Given the description of an element on the screen output the (x, y) to click on. 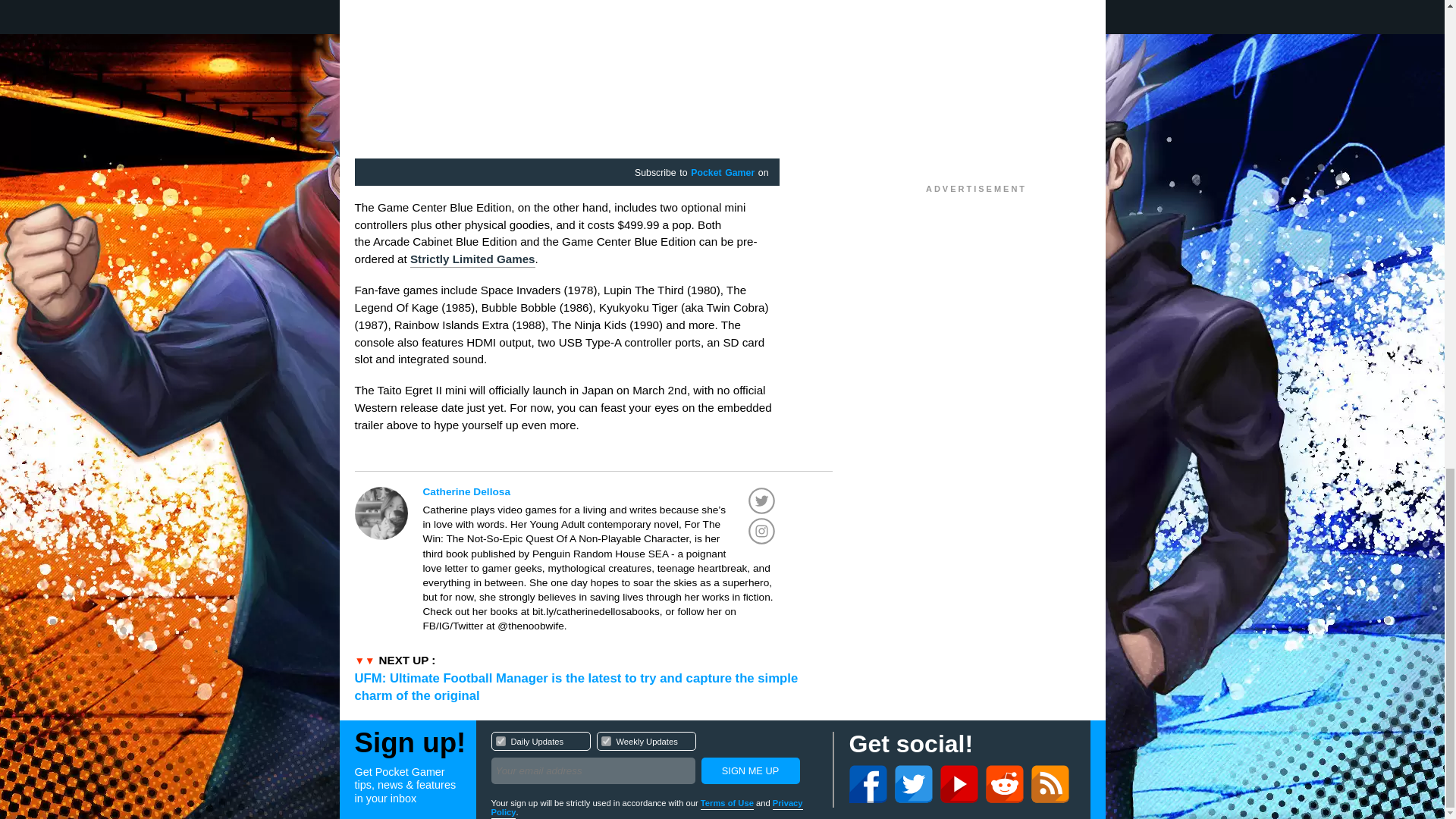
Sign Me Up (749, 770)
2 (654, 759)
Catherine Dellosa (604, 741)
Pocket Gamer (600, 491)
1 (722, 173)
Strictly Limited Games (500, 741)
